Given the description of an element on the screen output the (x, y) to click on. 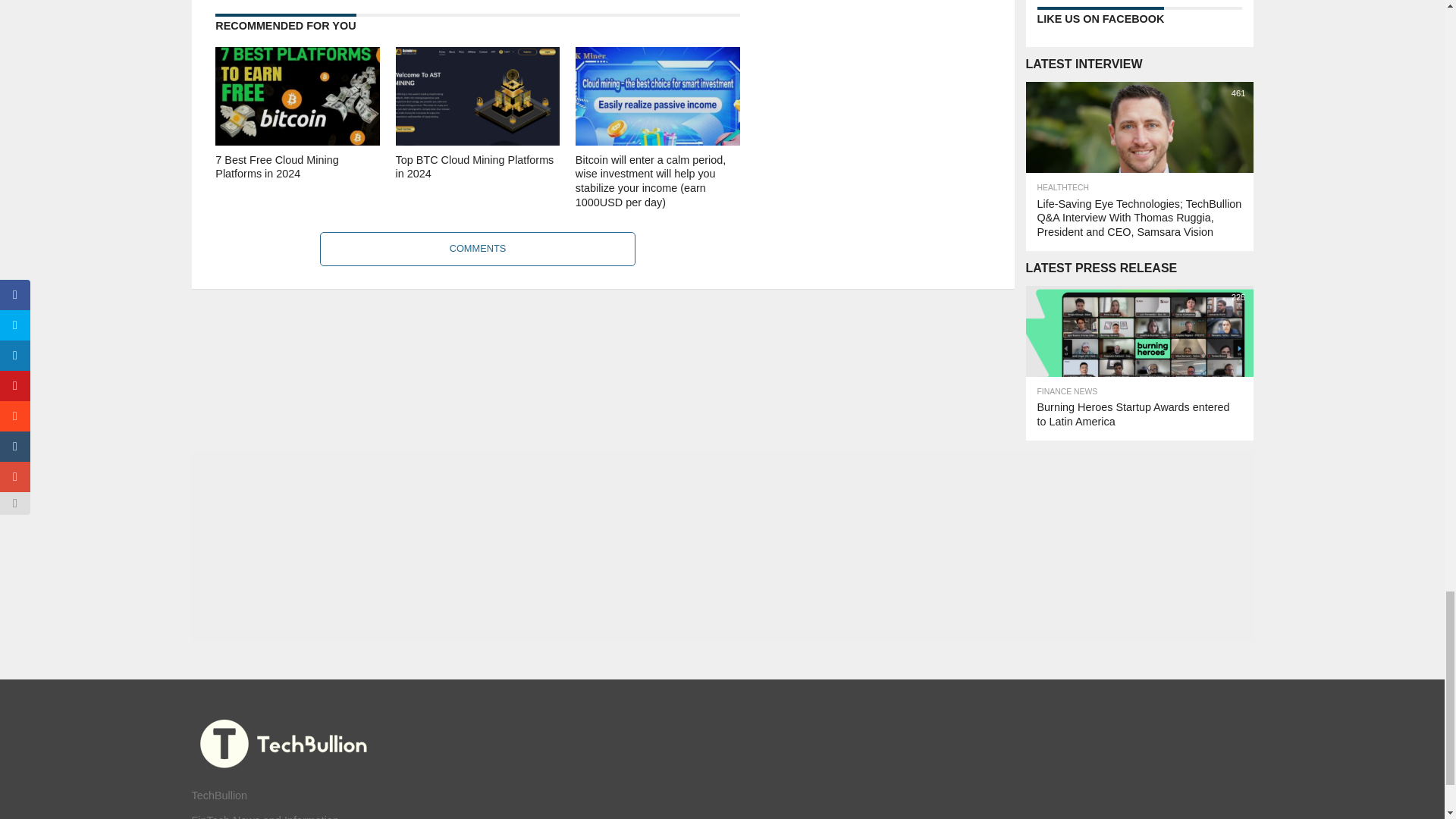
Top BTC Cloud Mining Platforms in 2024 (478, 141)
7 Best Free Cloud Mining Platforms in 2024 (297, 141)
